Given the description of an element on the screen output the (x, y) to click on. 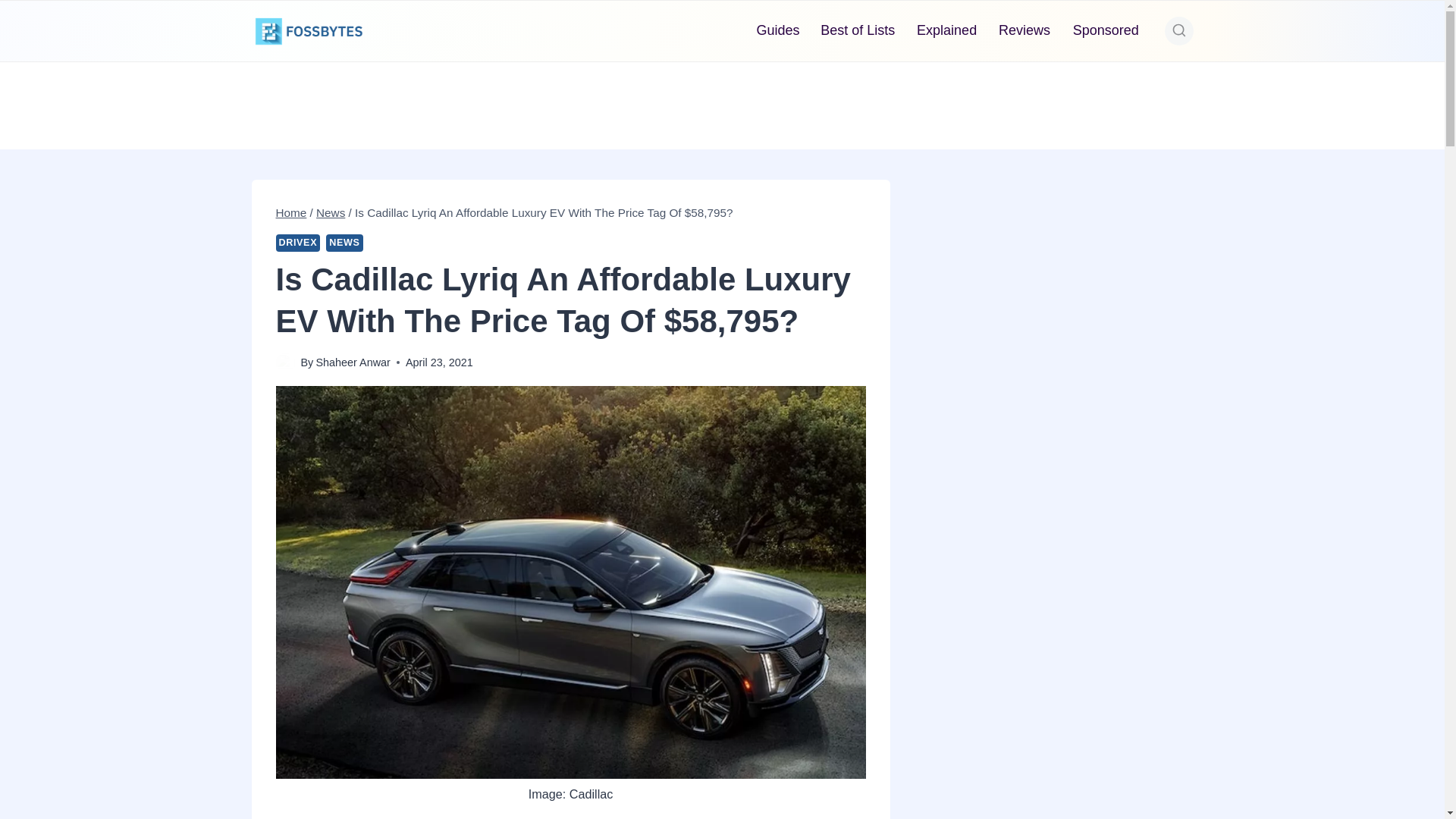
Explained (946, 30)
Reviews (1024, 30)
NEWS (344, 242)
News (330, 212)
Best of Lists (857, 30)
DRIVEX (298, 242)
Shaheer Anwar (352, 362)
Sponsored (1105, 30)
Guides (777, 30)
Home (291, 212)
